Given the description of an element on the screen output the (x, y) to click on. 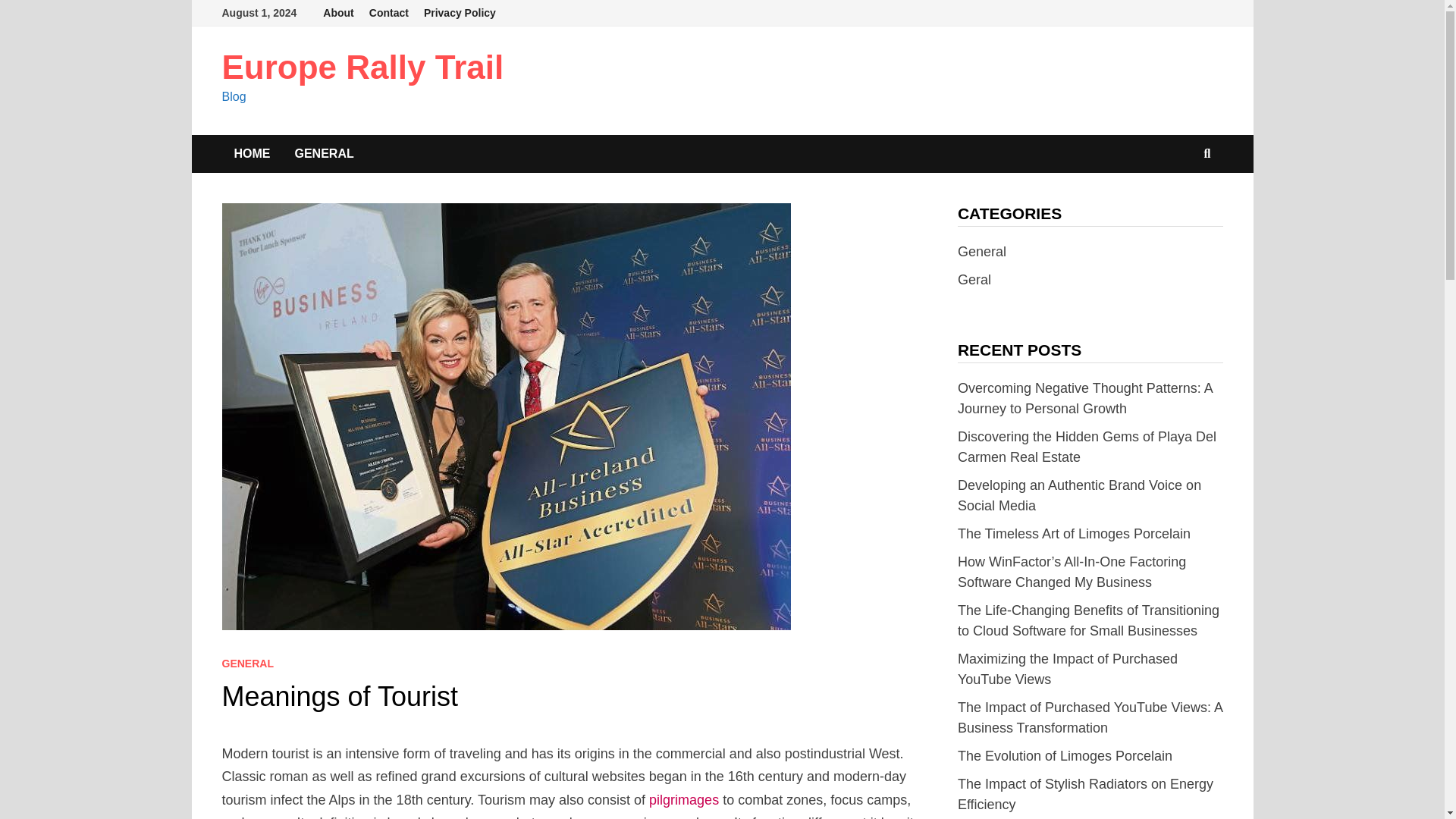
Privacy Policy (459, 13)
About (338, 13)
Contact (388, 13)
Geral (974, 279)
Developing an Authentic Brand Voice on Social Media (1079, 495)
pilgrimages (684, 799)
GENERAL (323, 153)
Discovering the Hidden Gems of Playa Del Carmen Real Estate (1086, 447)
Europe Rally Trail (362, 66)
HOME (251, 153)
The Timeless Art of Limoges Porcelain (1074, 533)
General (982, 251)
Maximizing the Impact of Purchased YouTube Views (1067, 669)
